Given the description of an element on the screen output the (x, y) to click on. 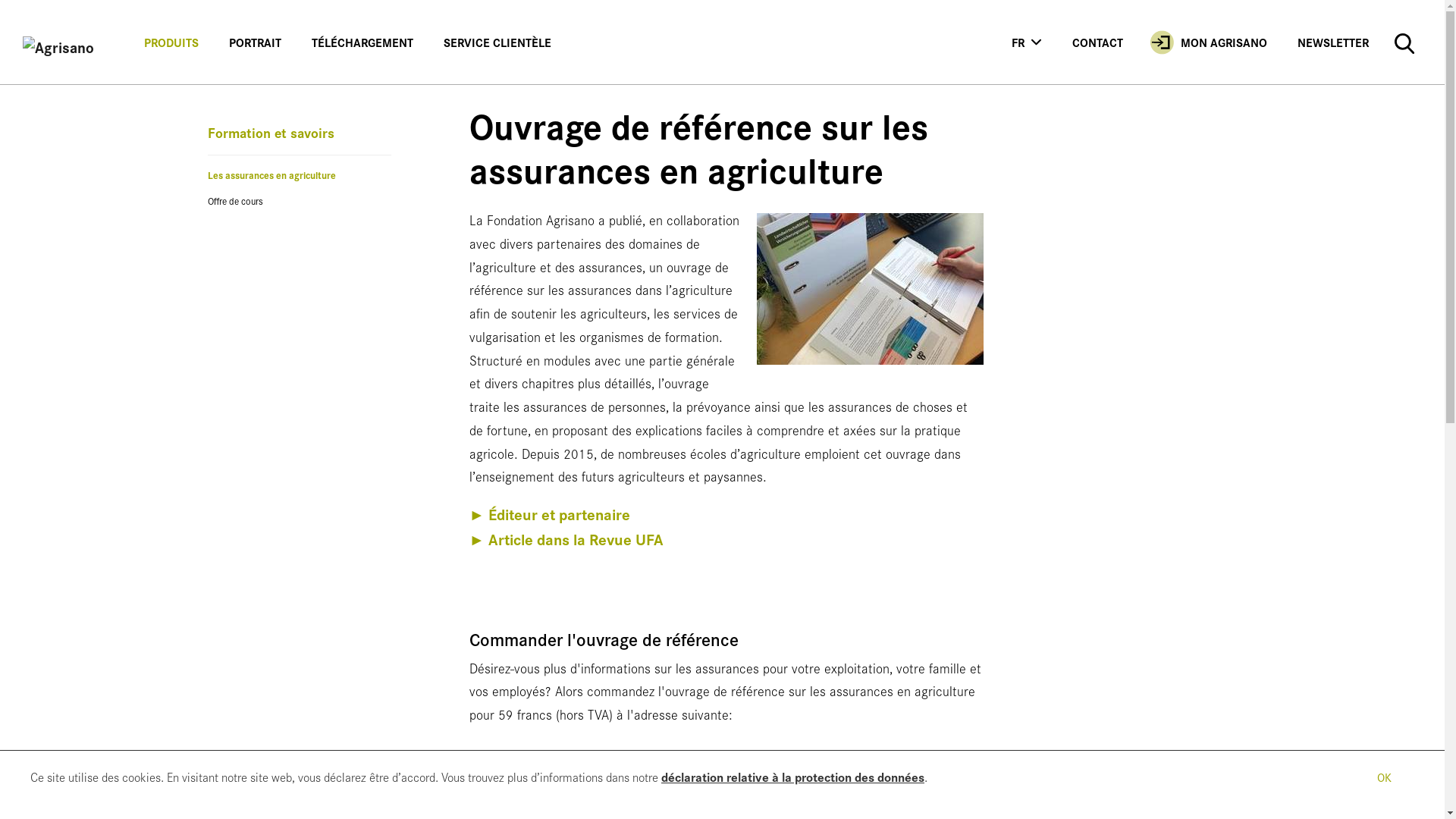
NEWSLETTER Element type: text (1332, 41)
standardwerk@agrisano.ch Element type: text (550, 800)
OK Element type: text (1383, 775)
MON AGRISANO Element type: text (1210, 41)
PRODUITS Element type: text (170, 41)
Les assurances en agriculture Element type: text (299, 175)
PORTRAIT Element type: text (254, 41)
Offre de cours Element type: text (299, 200)
Formation et savoirs Element type: text (270, 132)
CONTACT Element type: text (1097, 41)
FR Element type: text (1026, 41)
